Given the description of an element on the screen output the (x, y) to click on. 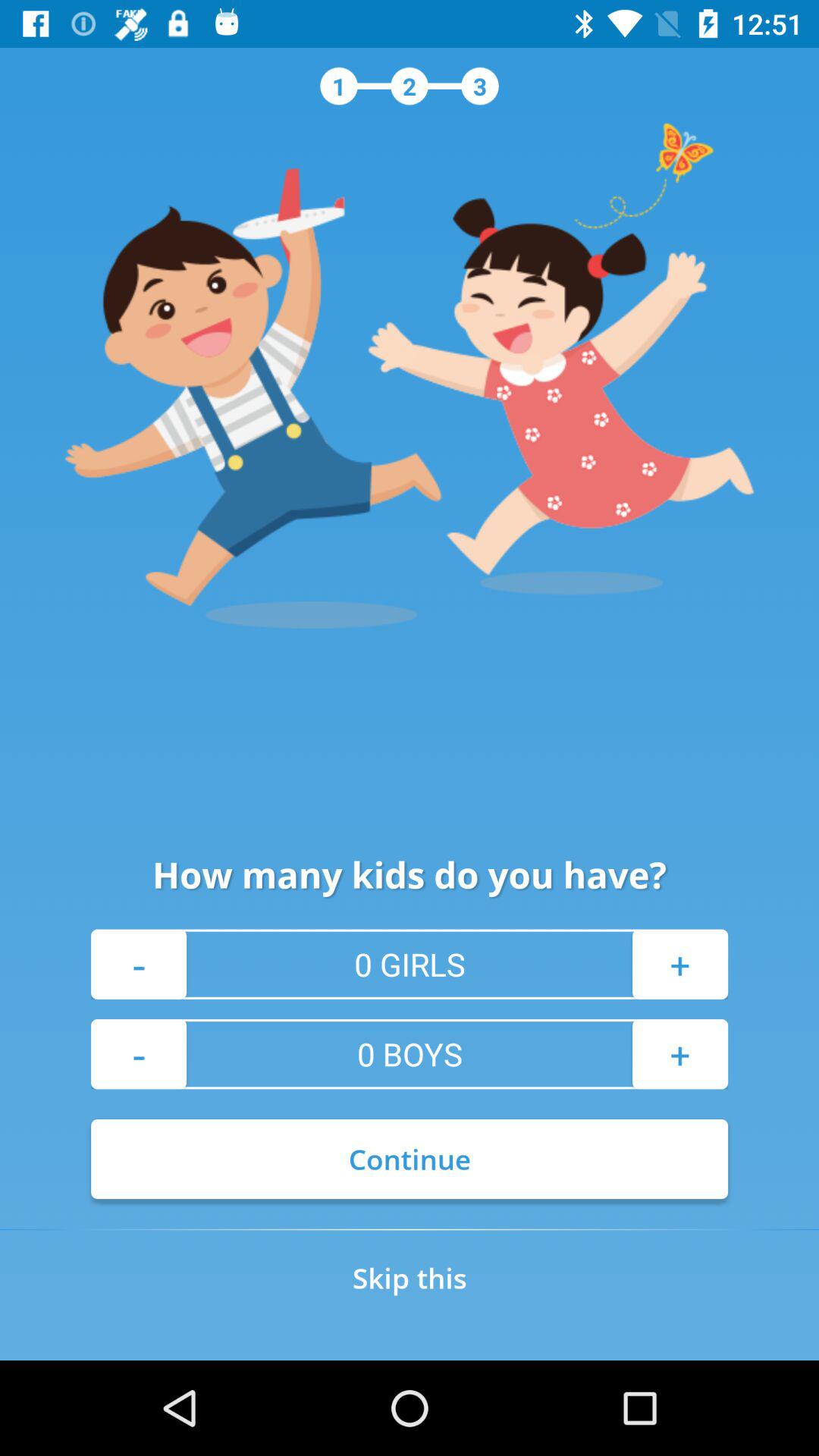
go to the text above skip this (409, 1158)
